Given the description of an element on the screen output the (x, y) to click on. 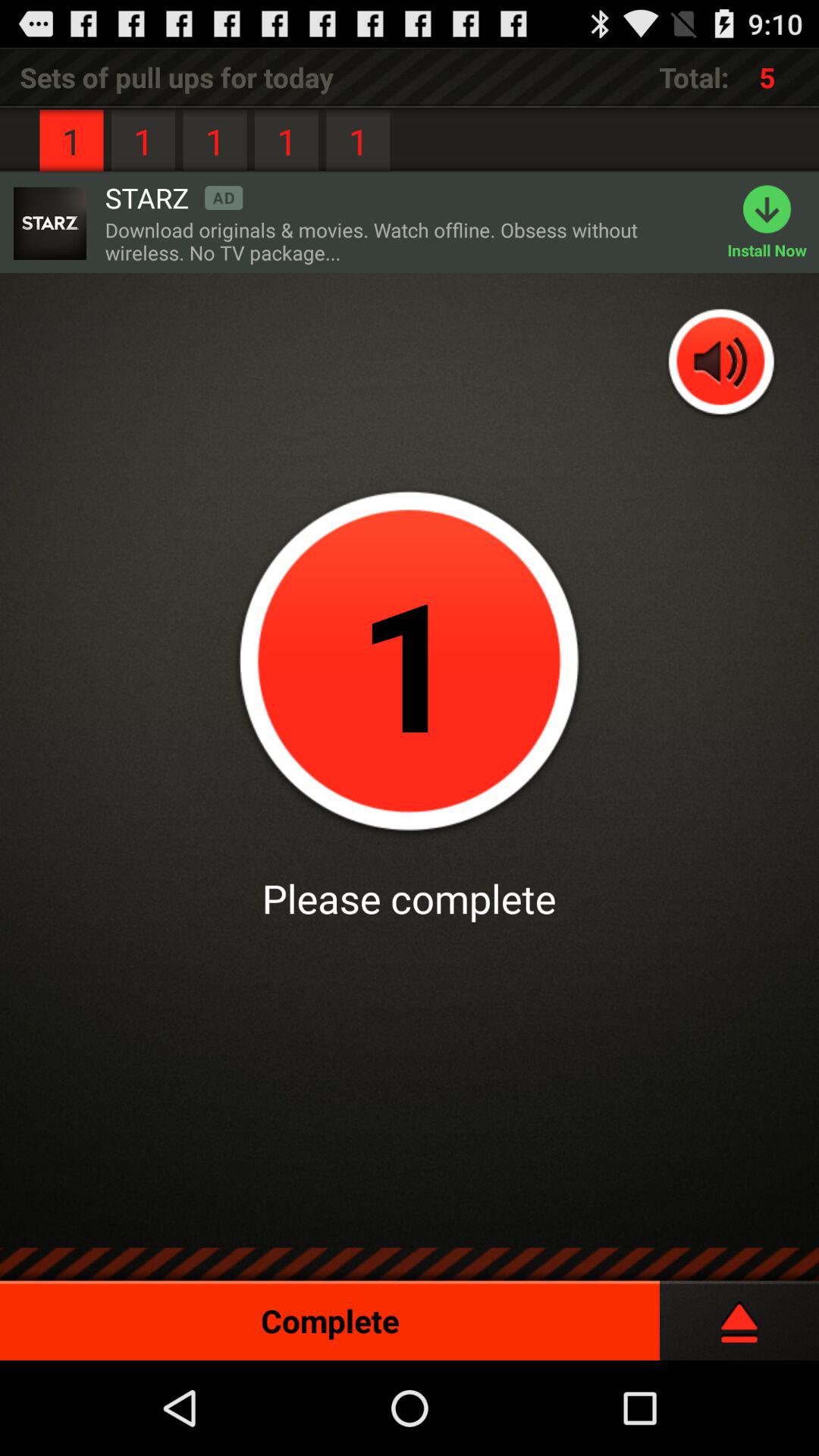
select sound (721, 363)
